Given the description of an element on the screen output the (x, y) to click on. 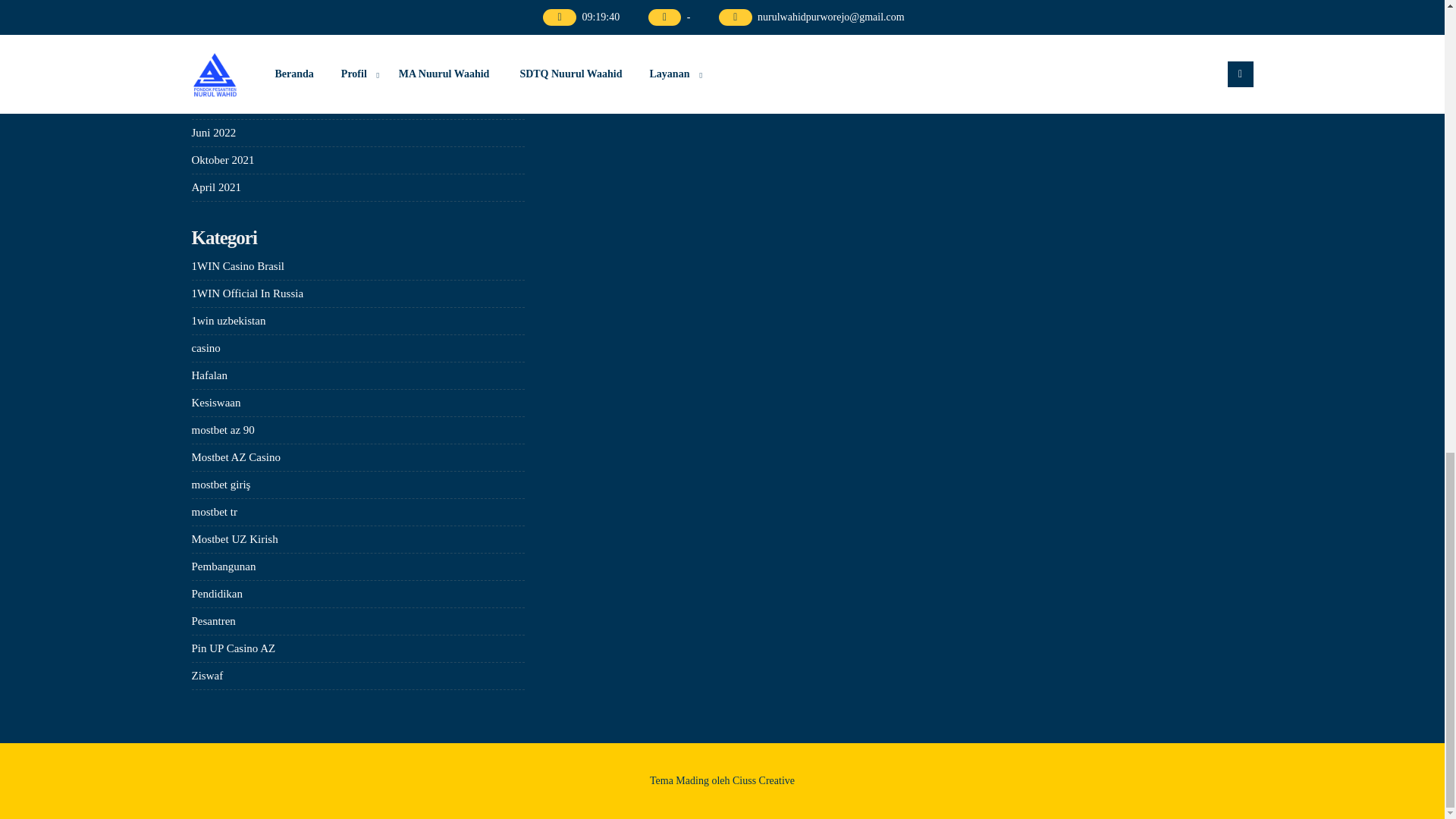
Januari 2023 (219, 1)
September 2022 (227, 50)
Juli 2022 (211, 105)
Agustus 2022 (221, 78)
Oktober 2021 (221, 159)
Oktober 2022 (221, 23)
Juni 2022 (212, 132)
